Given the description of an element on the screen output the (x, y) to click on. 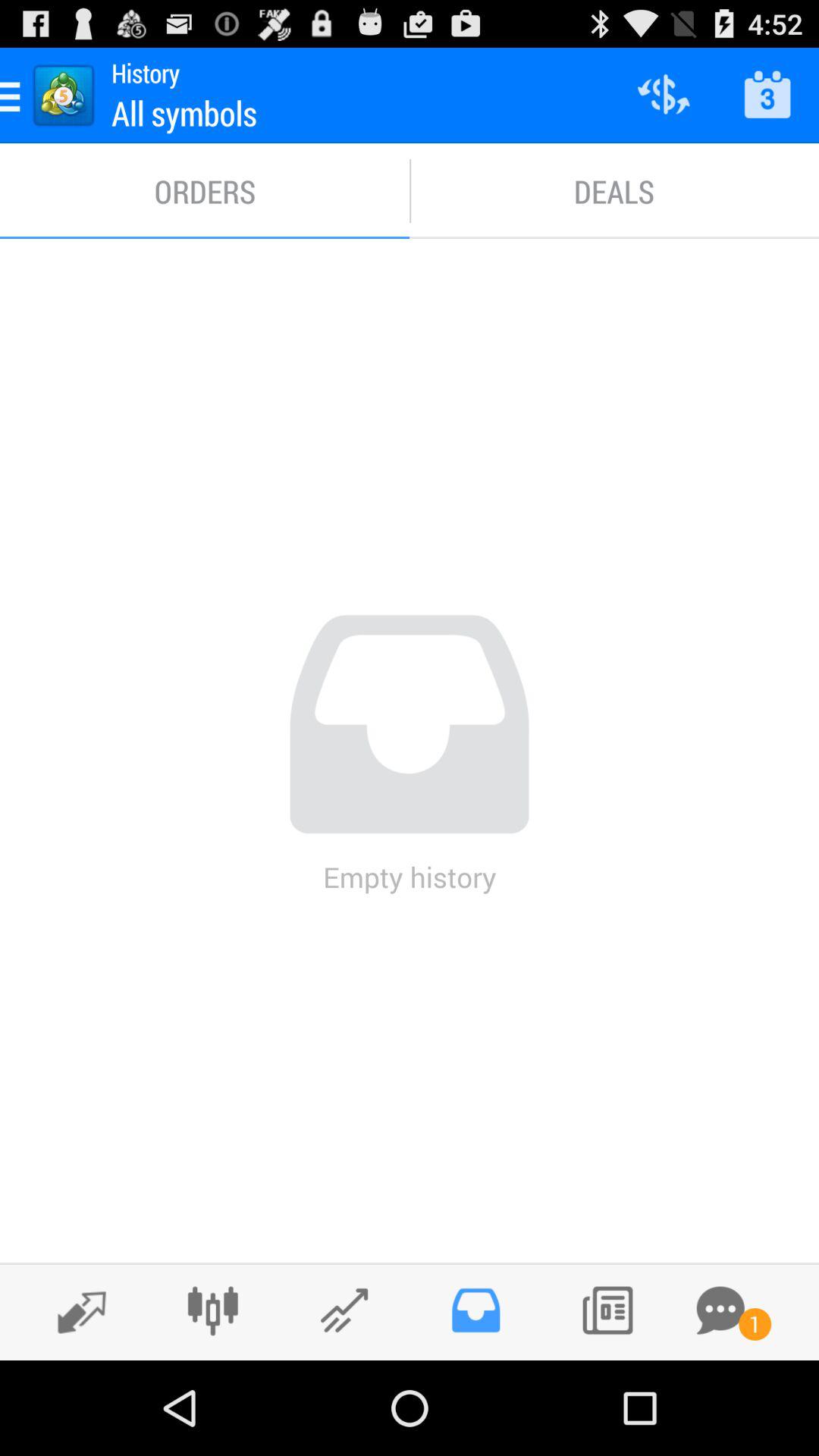
message button (720, 1310)
